Given the description of an element on the screen output the (x, y) to click on. 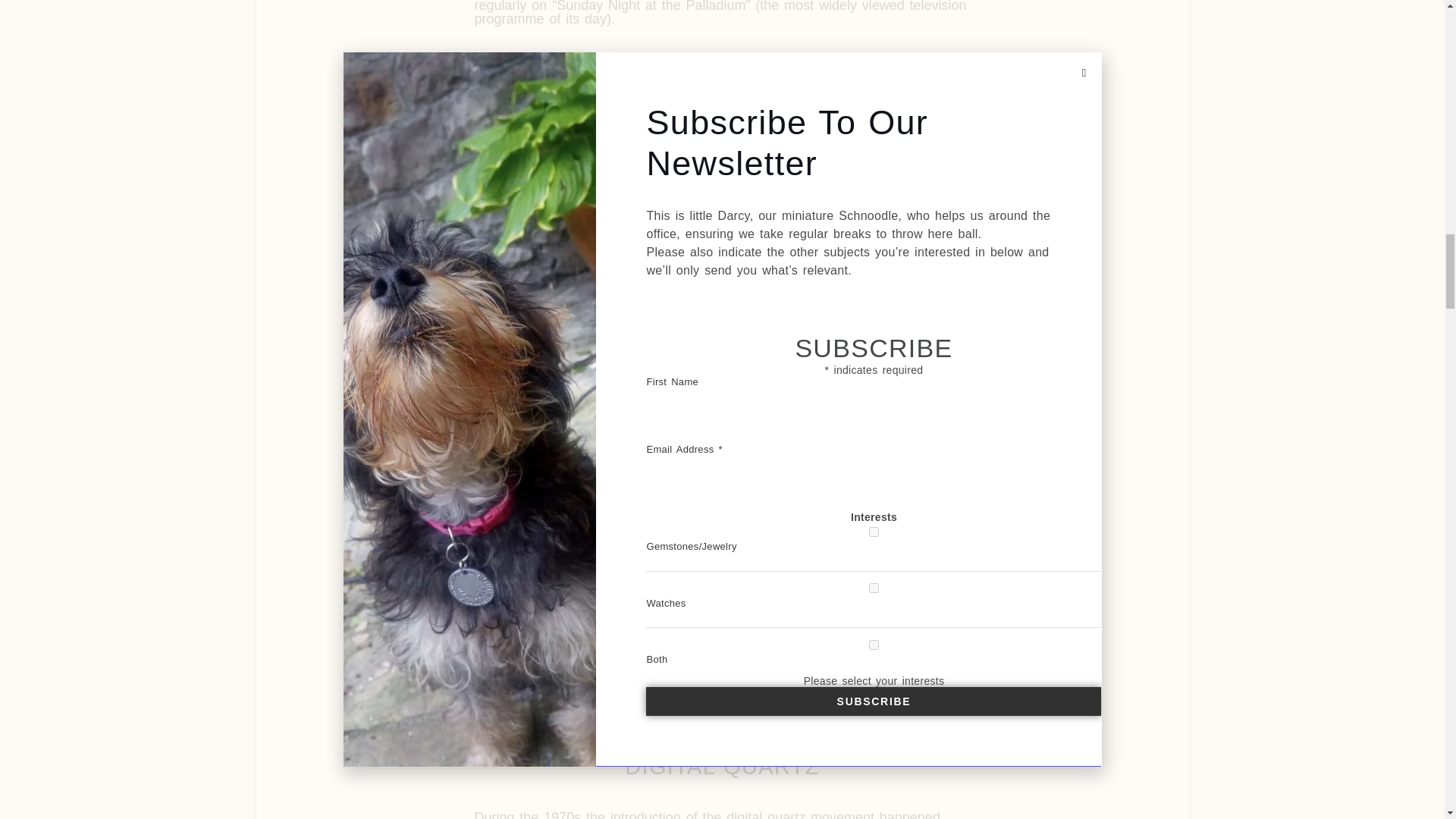
Buy on Amazon (869, 631)
